Given the description of an element on the screen output the (x, y) to click on. 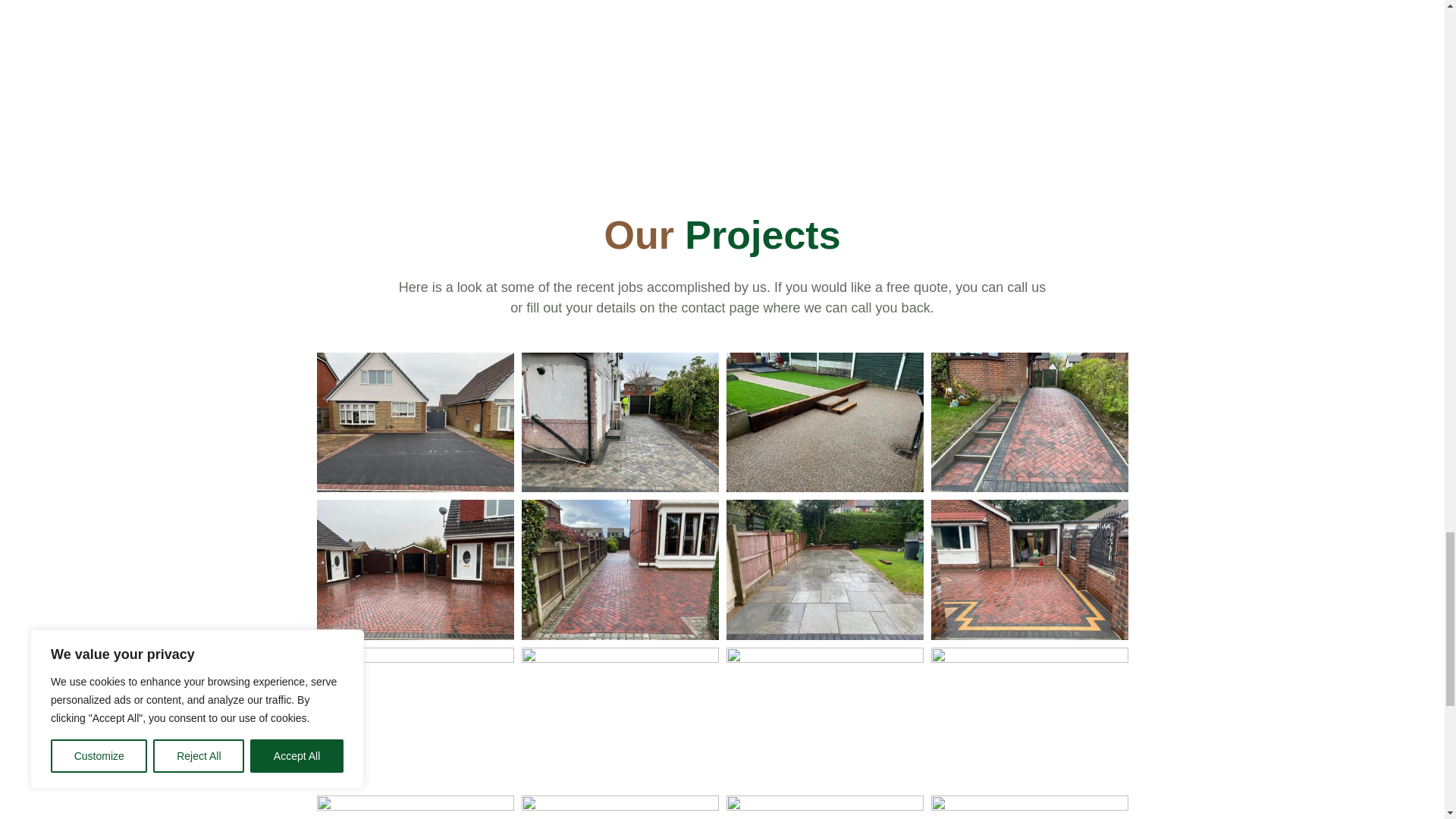
14 (620, 806)
4 (1029, 488)
7 (824, 635)
12 (1029, 658)
1 (415, 488)
10 (620, 658)
13 (415, 806)
5 (415, 635)
9 (415, 658)
2 (620, 488)
